Given the description of an element on the screen output the (x, y) to click on. 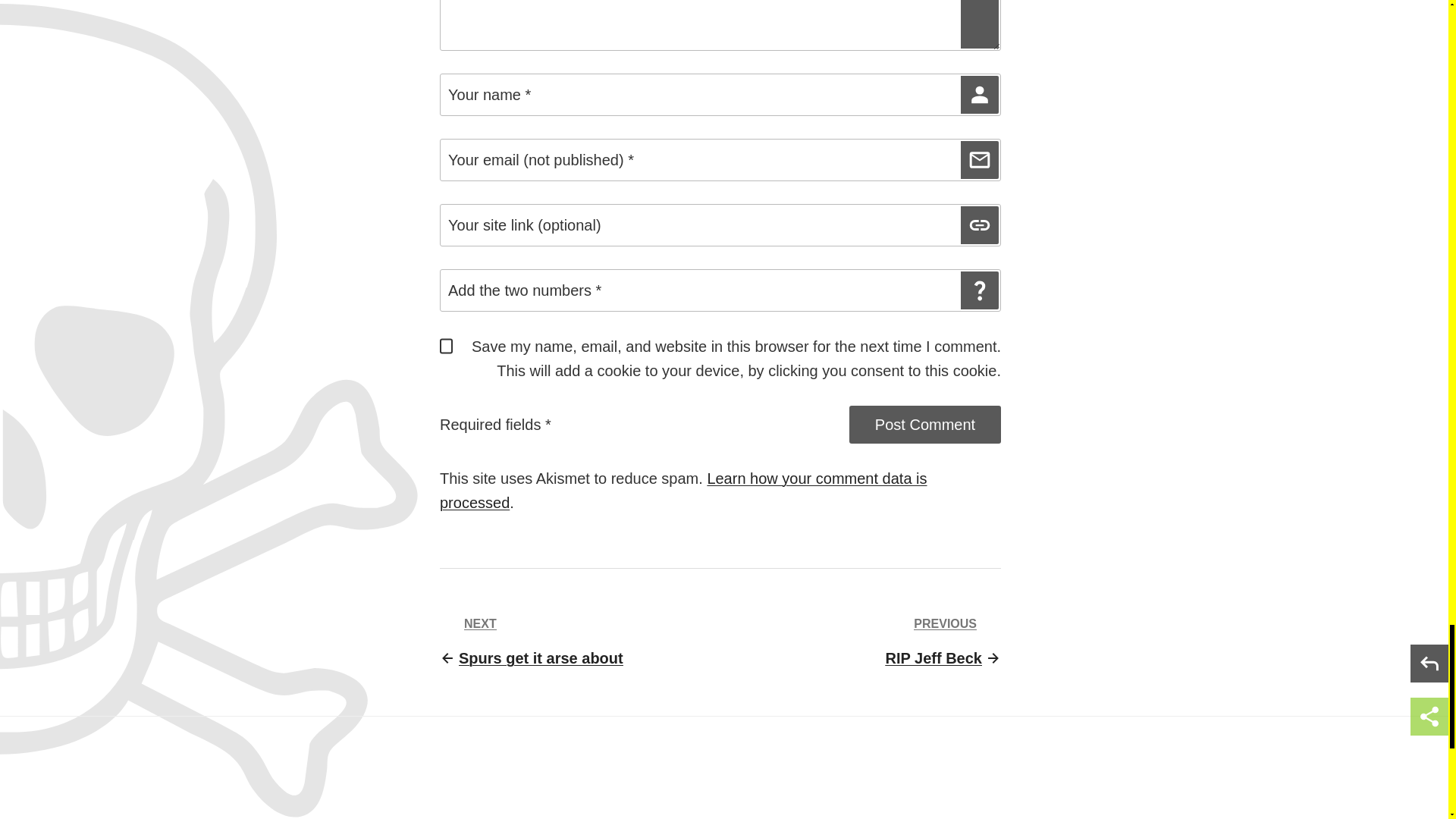
Post Comment (924, 424)
on (445, 412)
yes (445, 345)
Learn how your comment data is processed (943, 642)
